Given the description of an element on the screen output the (x, y) to click on. 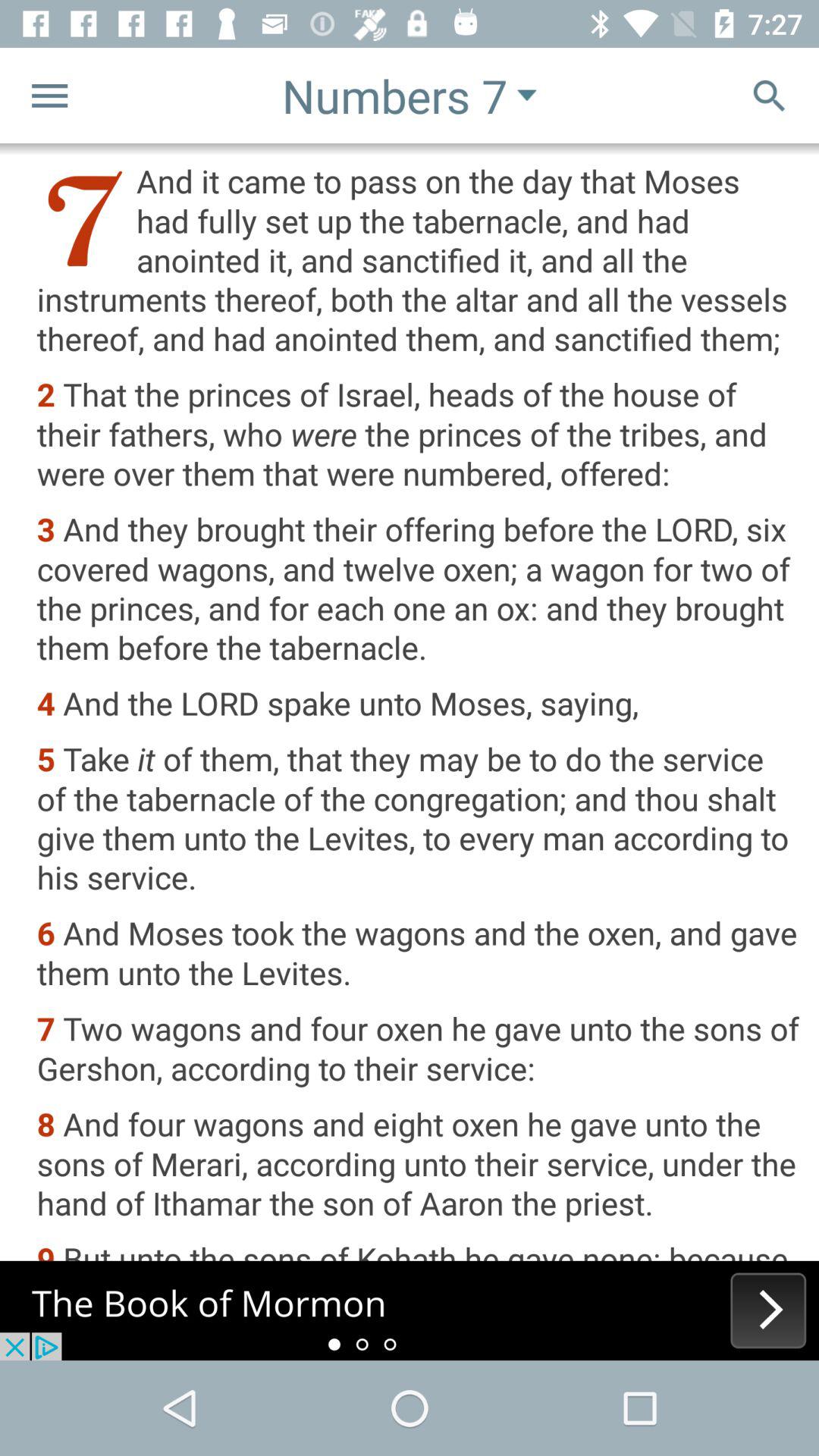
search for results (769, 95)
